Given the description of an element on the screen output the (x, y) to click on. 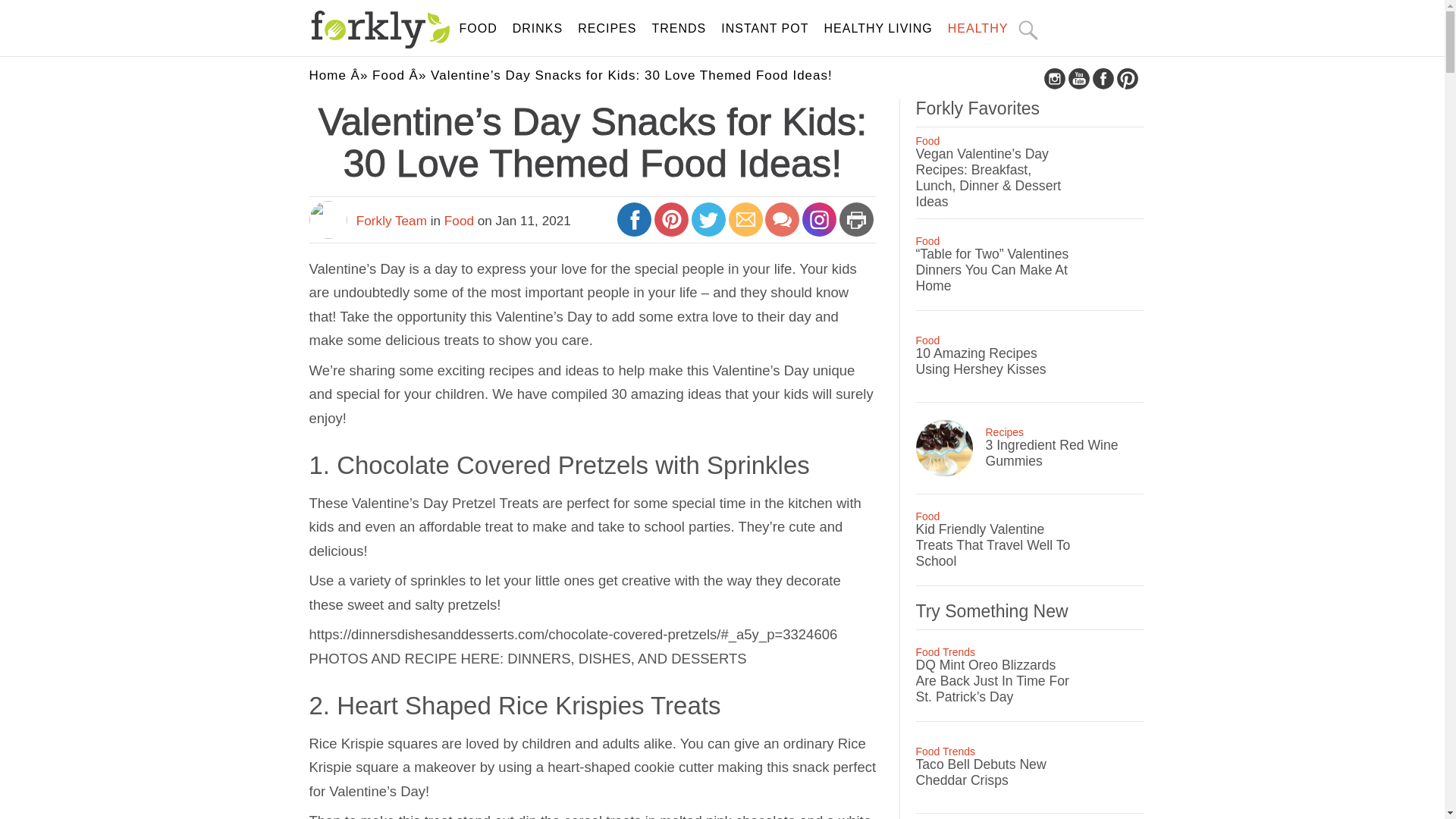
Food (388, 74)
RECIPES (607, 28)
FOOD (478, 28)
DRINKS (537, 28)
HEALTHY LIVING (878, 28)
Share by Email (745, 226)
HEALTHY (978, 28)
Forkly Team (391, 220)
Posts by Forkly Team (391, 220)
